Given the description of an element on the screen output the (x, y) to click on. 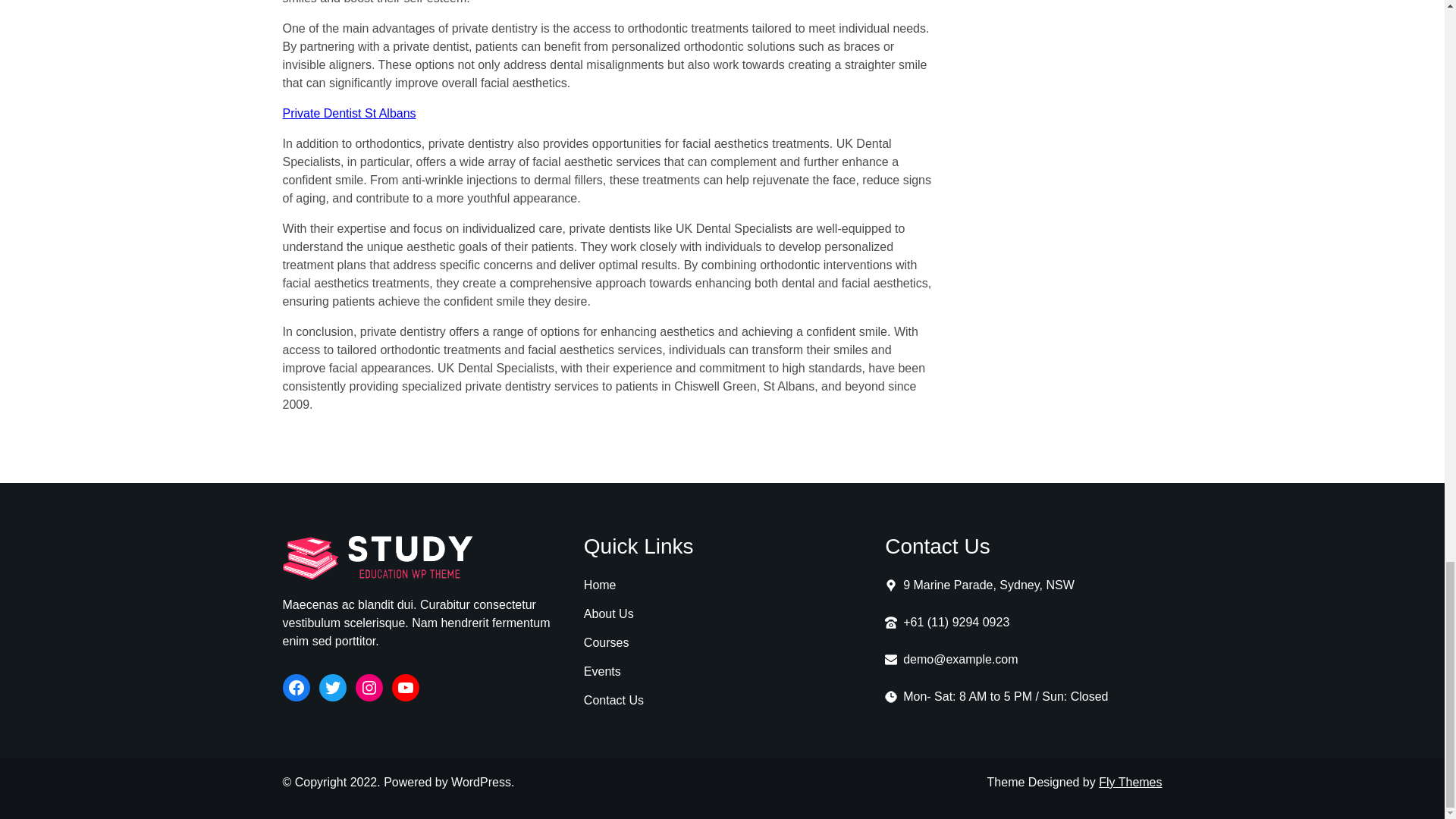
Fly Themes (1130, 781)
YouTube (405, 687)
Instagram (368, 687)
Private Dentist St Albans (348, 113)
Facebook (295, 687)
Twitter (332, 687)
